Given the description of an element on the screen output the (x, y) to click on. 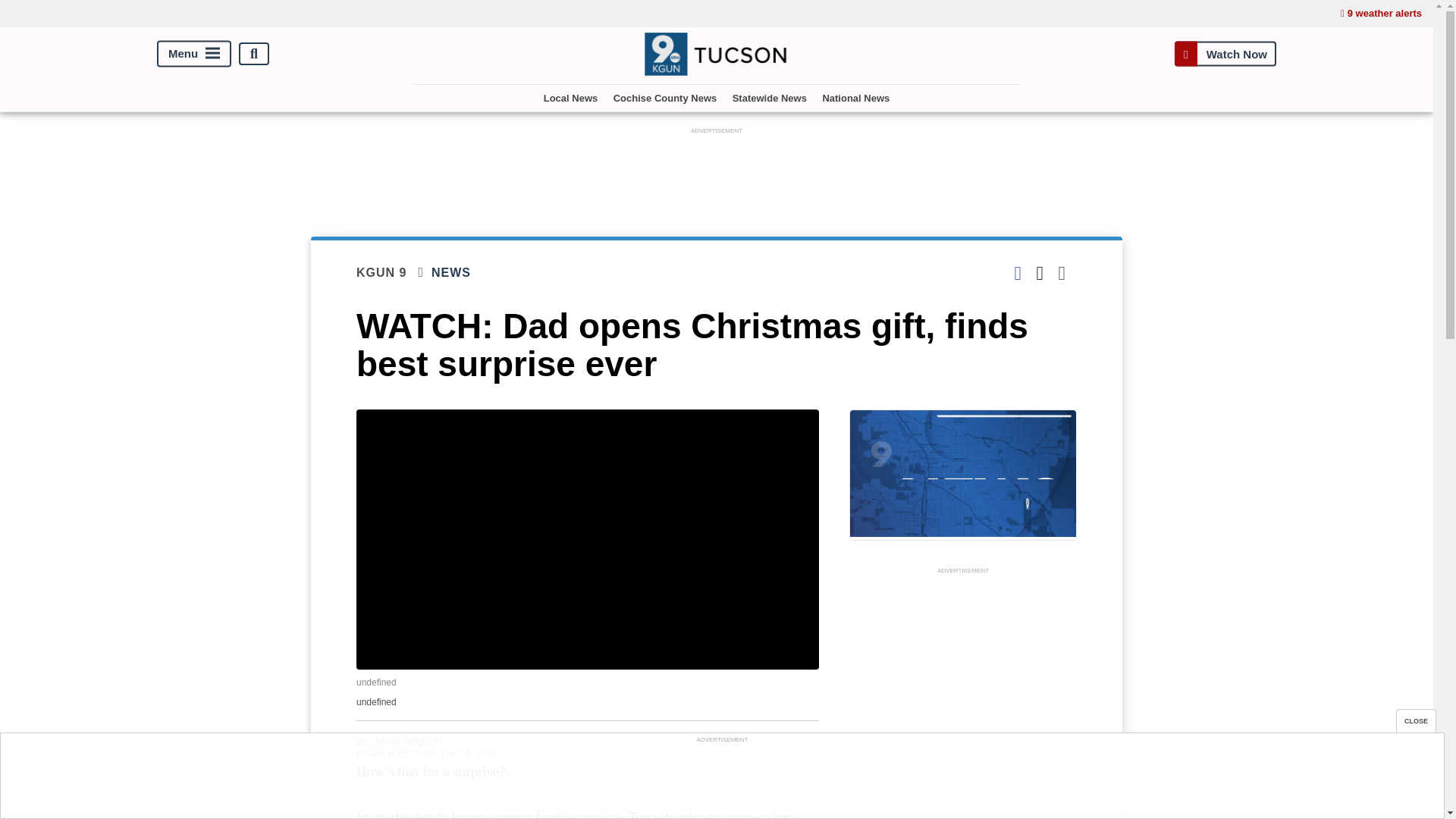
3rd party ad content (962, 698)
Menu (194, 53)
3rd party ad content (721, 780)
Watch Now (1224, 53)
3rd party ad content (716, 172)
